Given the description of an element on the screen output the (x, y) to click on. 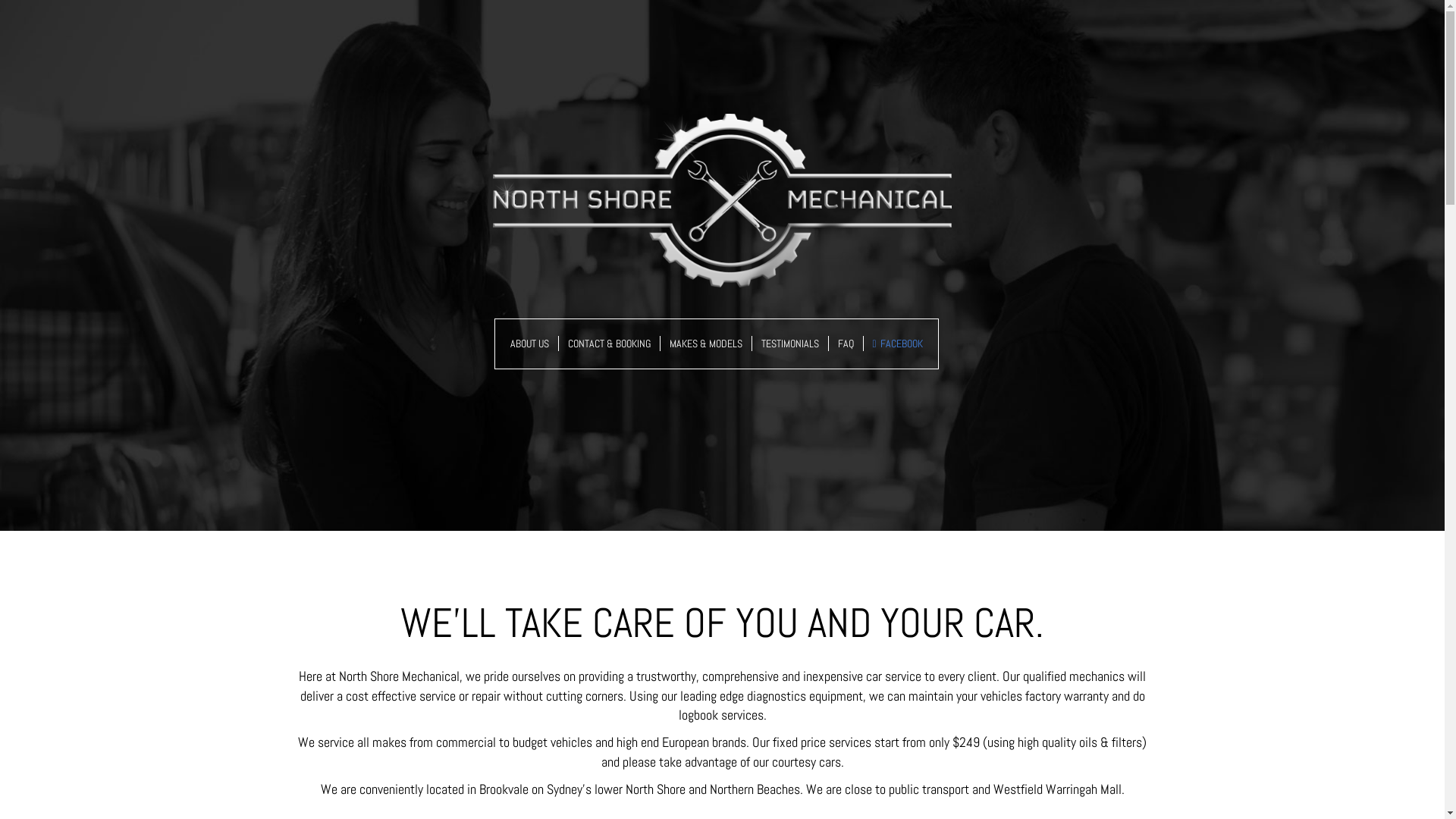
MAKES & MODELS Element type: text (705, 343)
CONTACT & BOOKING Element type: text (608, 343)
ABOUT US Element type: text (529, 343)
TESTIMONIALS Element type: text (790, 343)
FACEBOOK Element type: text (896, 343)
FAQ Element type: text (845, 343)
North Shore Mechanical Element type: hover (721, 200)
North Shore Mechanical Element type: hover (721, 200)
